Given the description of an element on the screen output the (x, y) to click on. 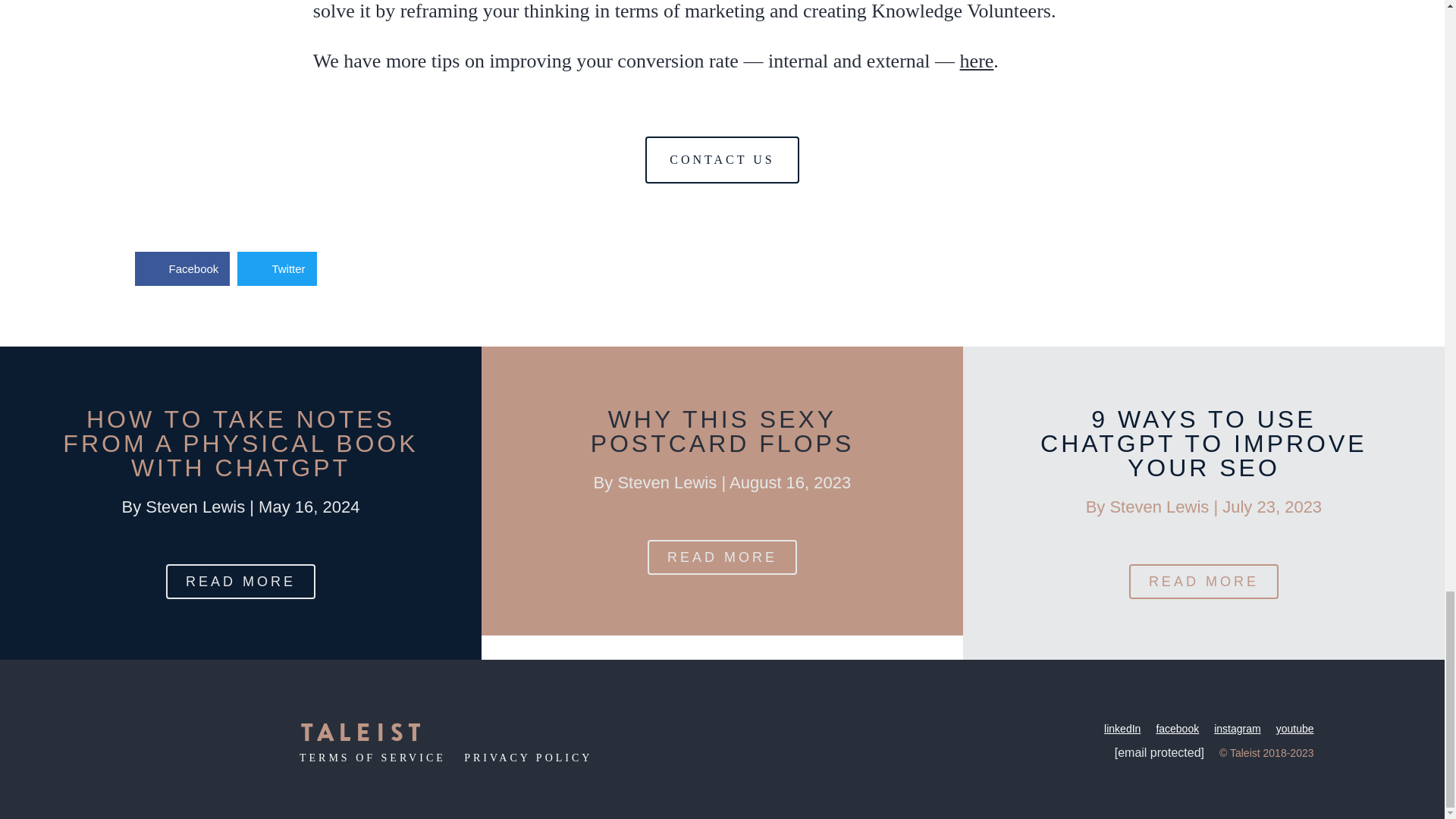
Why this sexy postcard flops (722, 431)
Twitter (276, 268)
CONTACT US (721, 159)
How to take notes from a physical book with ChatGPT (239, 443)
Facebook (182, 268)
here (976, 60)
9 ways to use ChatGPT to improve your SEO (1204, 443)
HOW TO TAKE NOTES FROM A PHYSICAL BOOK WITH CHATGPT (239, 443)
